Given the description of an element on the screen output the (x, y) to click on. 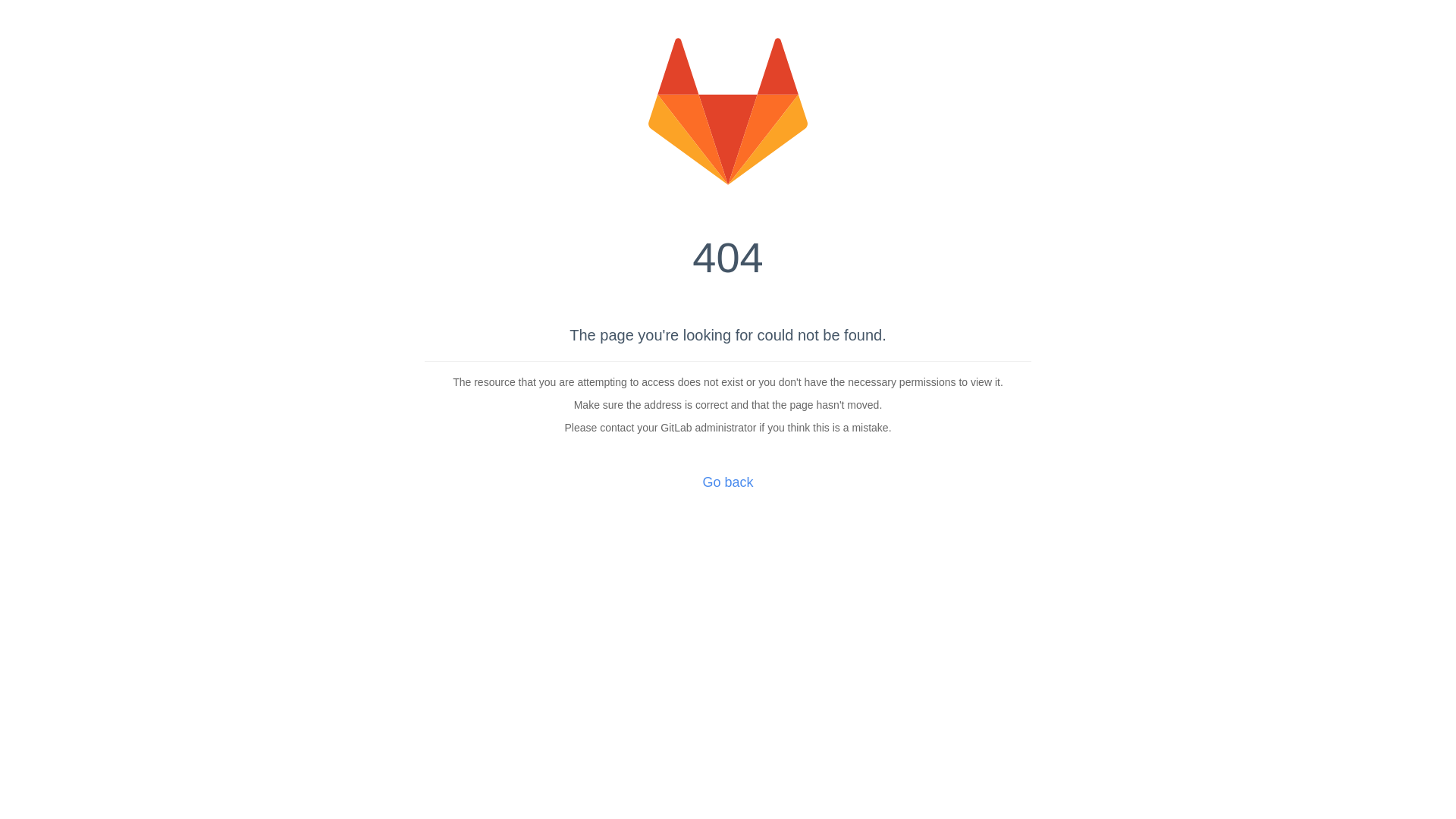
Go back Element type: text (727, 481)
